Given the description of an element on the screen output the (x, y) to click on. 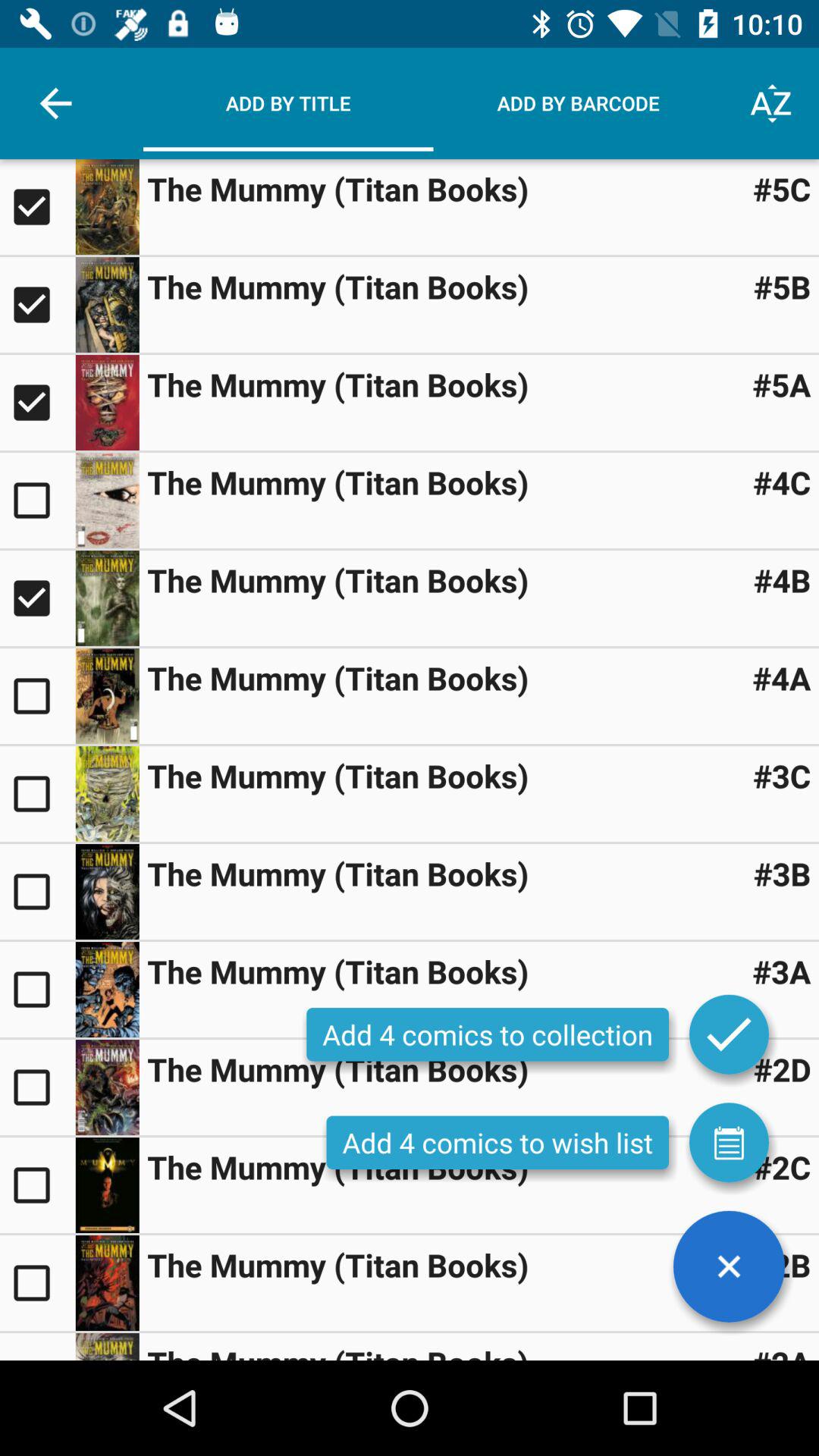
open image (107, 1185)
